Given the description of an element on the screen output the (x, y) to click on. 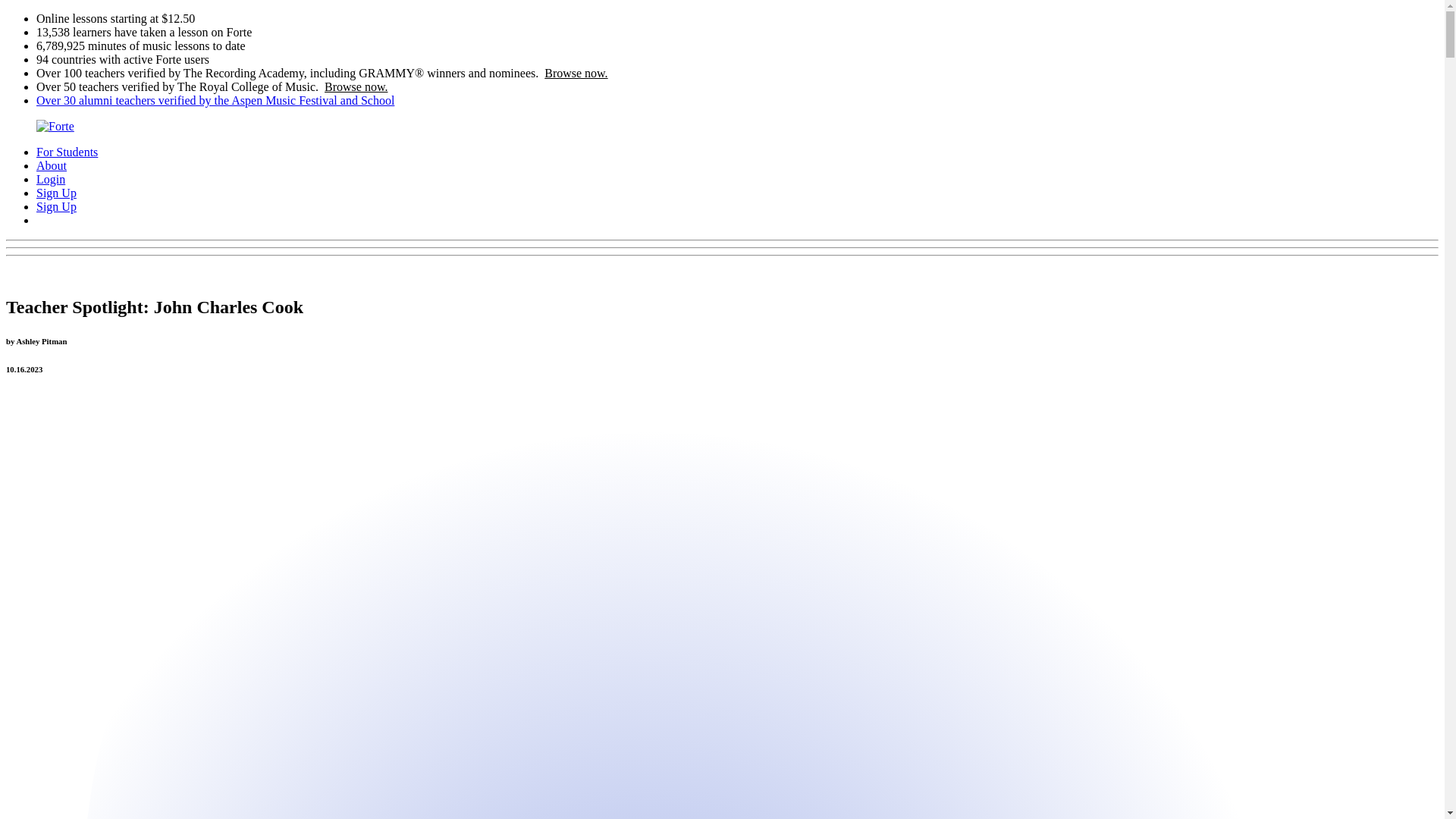
About (51, 164)
Sign Up (56, 192)
Login (50, 178)
For Students (66, 151)
Sign Up (56, 205)
